Given the description of an element on the screen output the (x, y) to click on. 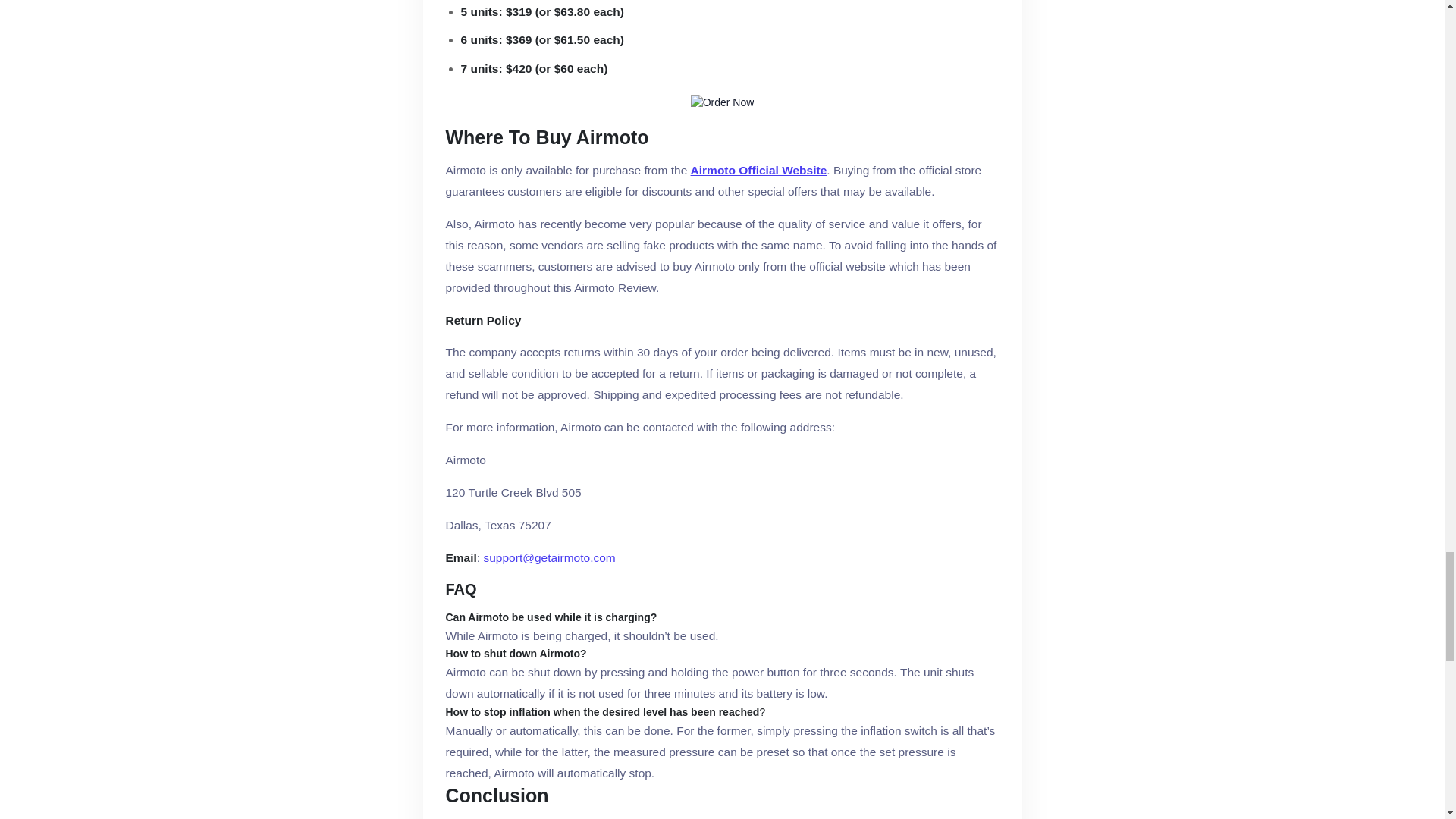
Airmoto Official Website (758, 169)
